Given the description of an element on the screen output the (x, y) to click on. 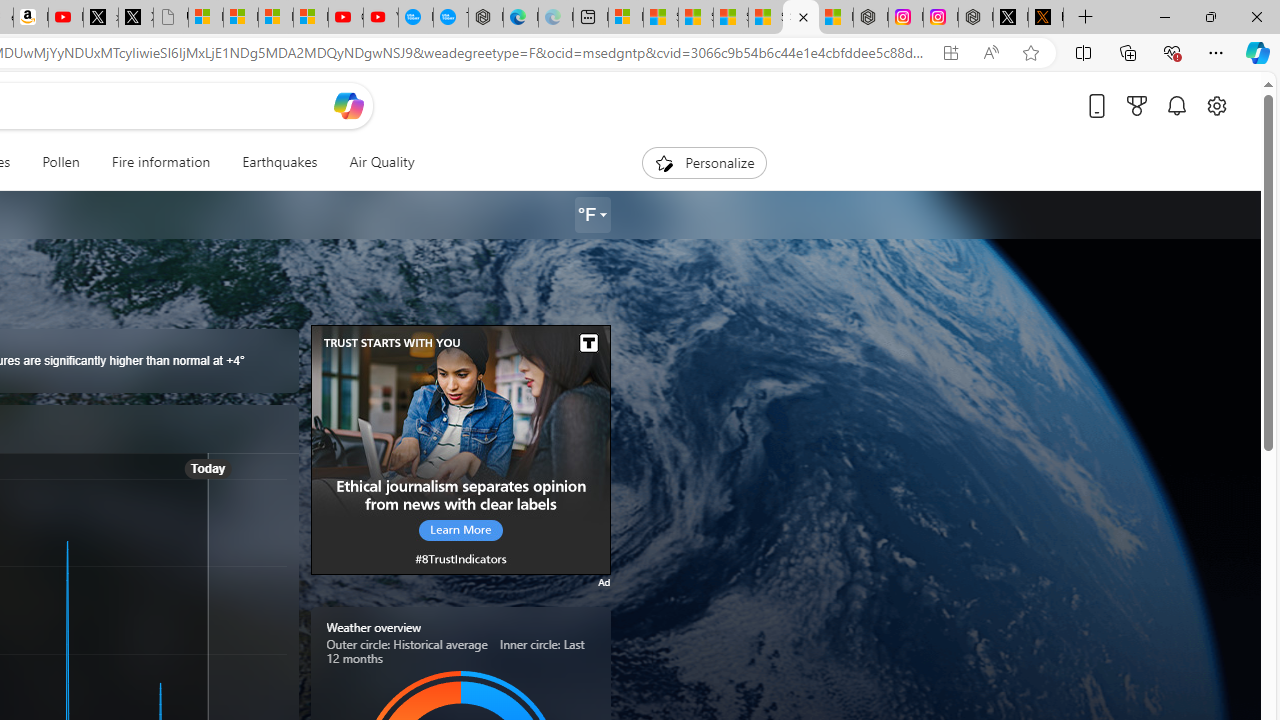
Fire information (161, 162)
Earthquakes (279, 162)
Shanghai, China Weather trends | Microsoft Weather (800, 17)
Personalize (703, 162)
App available. Install Microsoft Start Weather (950, 53)
Shanghai, China hourly forecast | Microsoft Weather (695, 17)
